Given the description of an element on the screen output the (x, y) to click on. 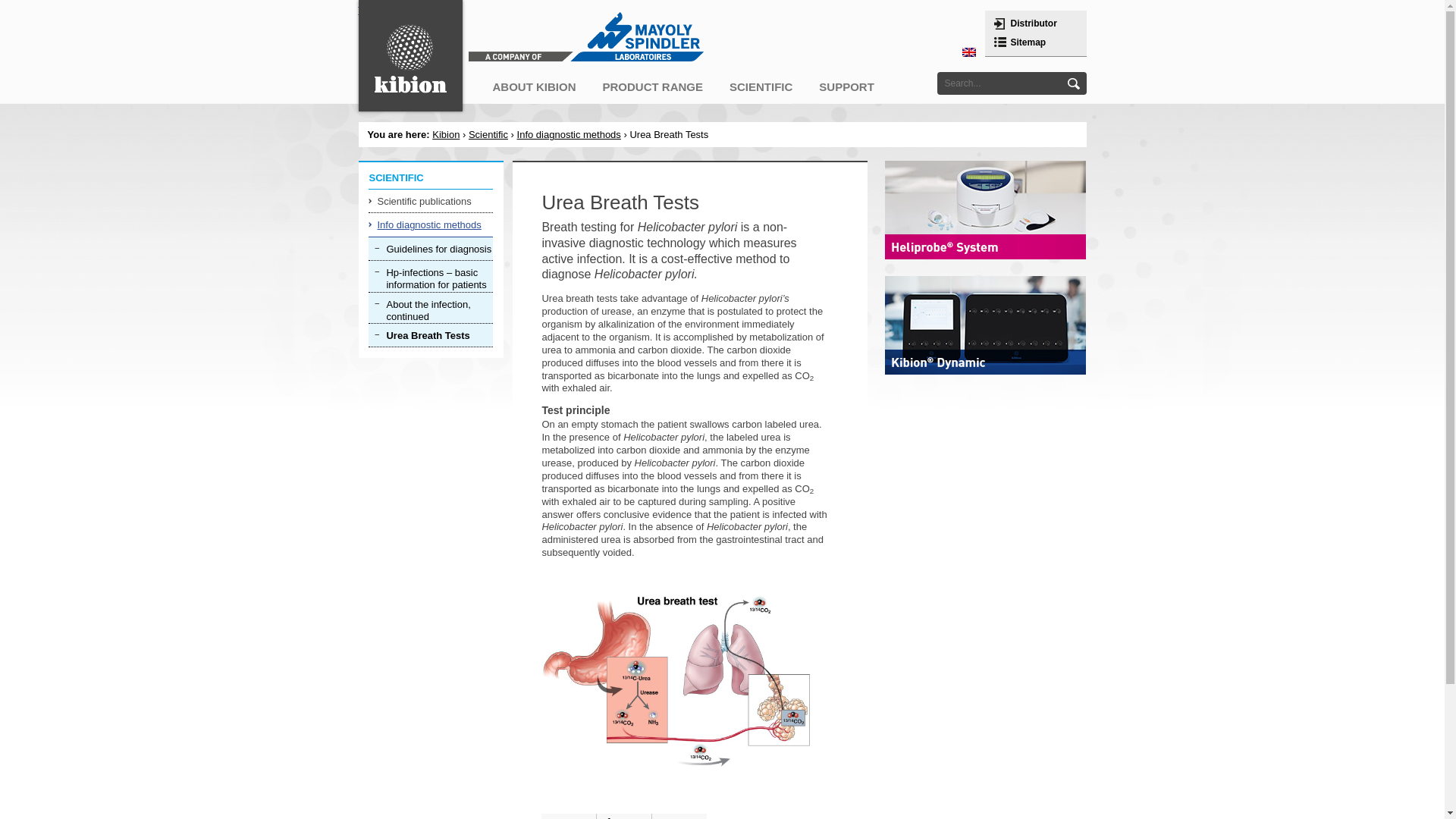
A company of Mayoly (585, 36)
Scientific (488, 134)
Search (369, 3)
Kibion (409, 55)
SCIENTIFIC (761, 85)
Kibion (446, 134)
E-mail (679, 816)
SUPPORT (847, 85)
Share (623, 816)
Sitemap (1027, 41)
Urea Breath Tests (430, 334)
Info diagnostic methods (568, 134)
Info diagnostic methods (430, 223)
Go to Scientific. (488, 134)
Distributor (1033, 23)
